Given the description of an element on the screen output the (x, y) to click on. 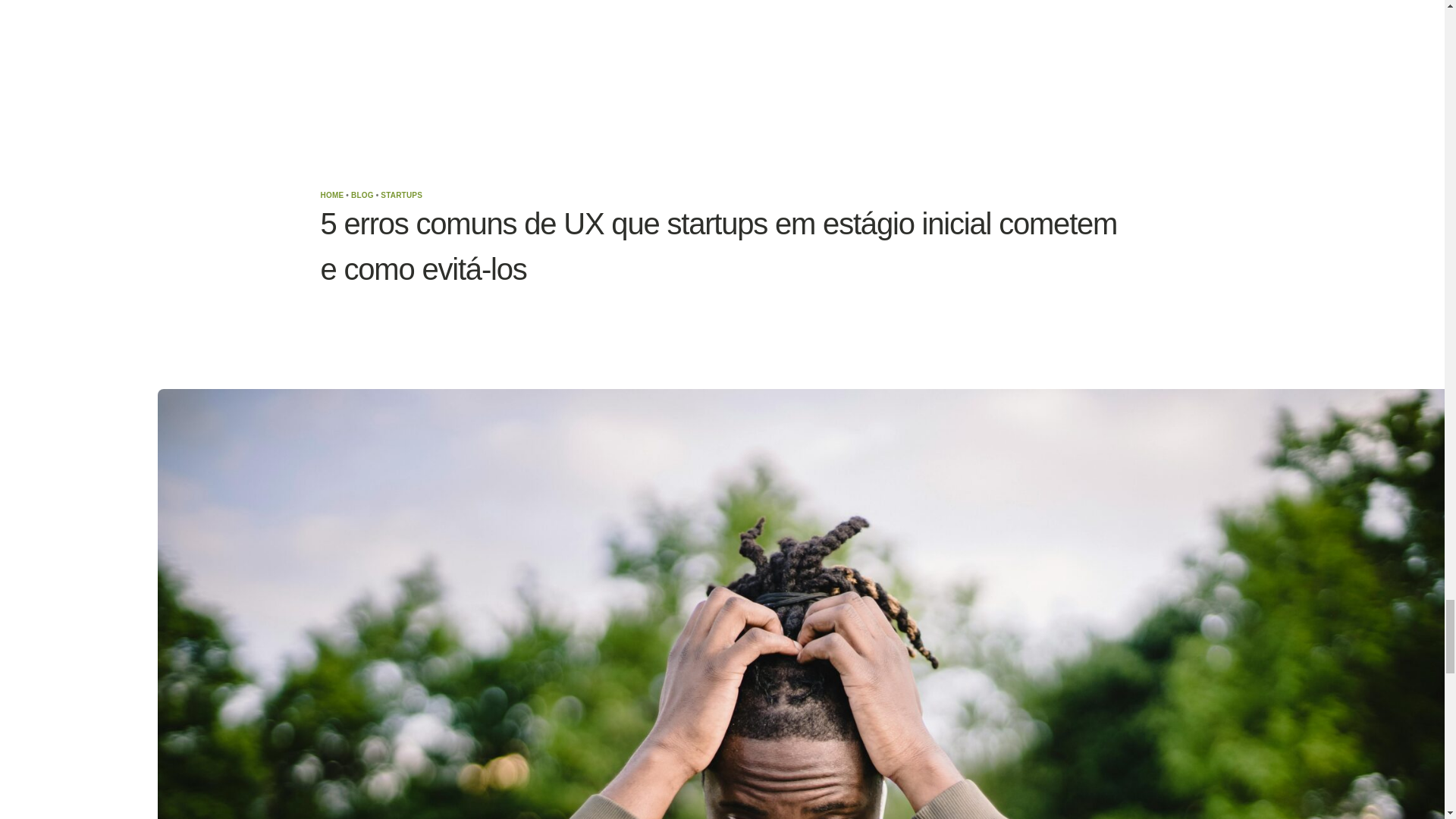
Subscribe (1254, 711)
